Given the description of an element on the screen output the (x, y) to click on. 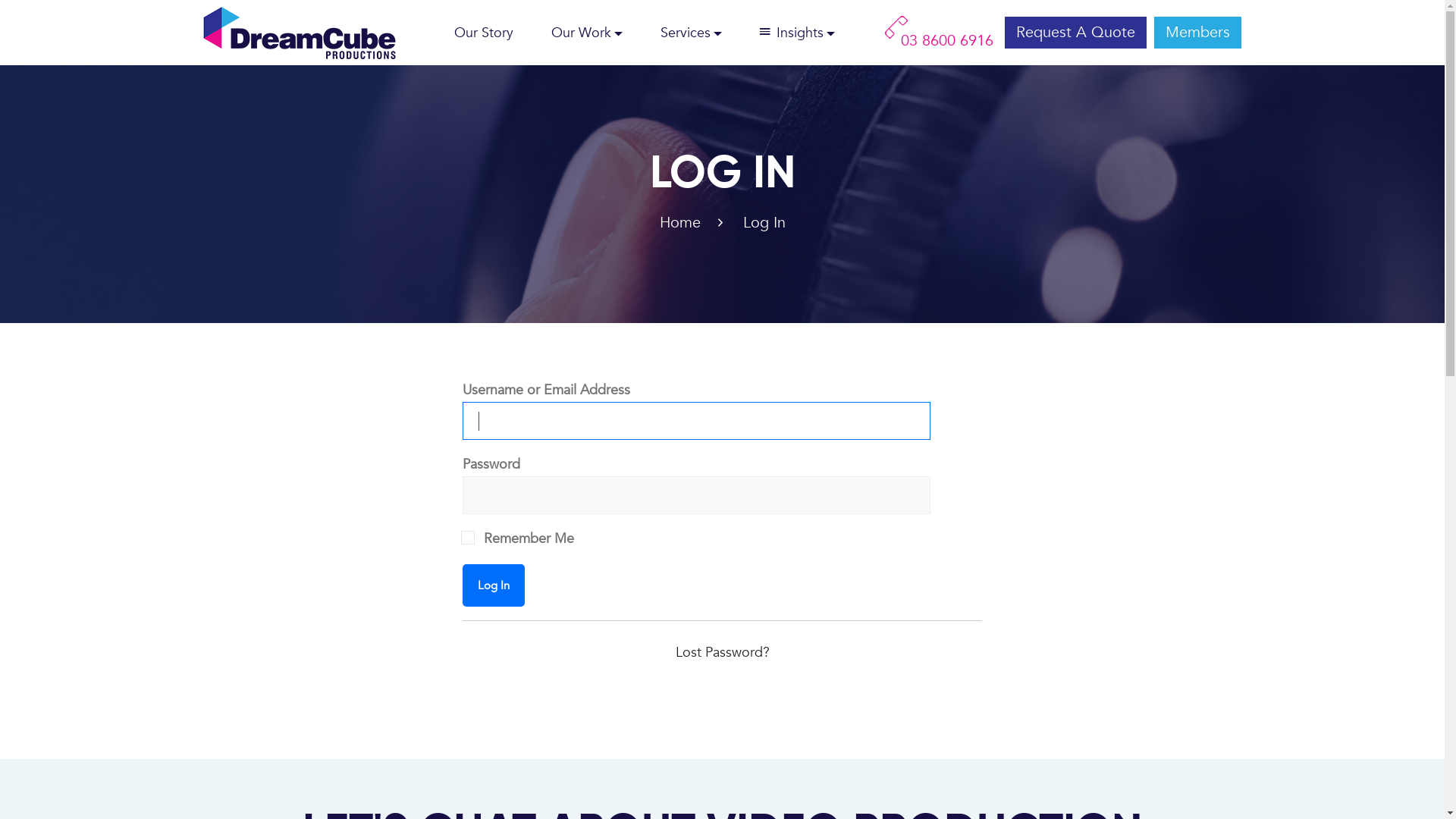
03 8600 6916 Element type: text (938, 40)
Home Element type: text (679, 222)
Members Element type: text (1197, 31)
Request A Quote Element type: text (1075, 31)
Insights Element type: text (796, 32)
Lost Password? Element type: text (721, 652)
Services Element type: text (690, 32)
Our Work Element type: text (586, 32)
Log In Element type: text (493, 585)
Our Story Element type: text (482, 32)
